Given the description of an element on the screen output the (x, y) to click on. 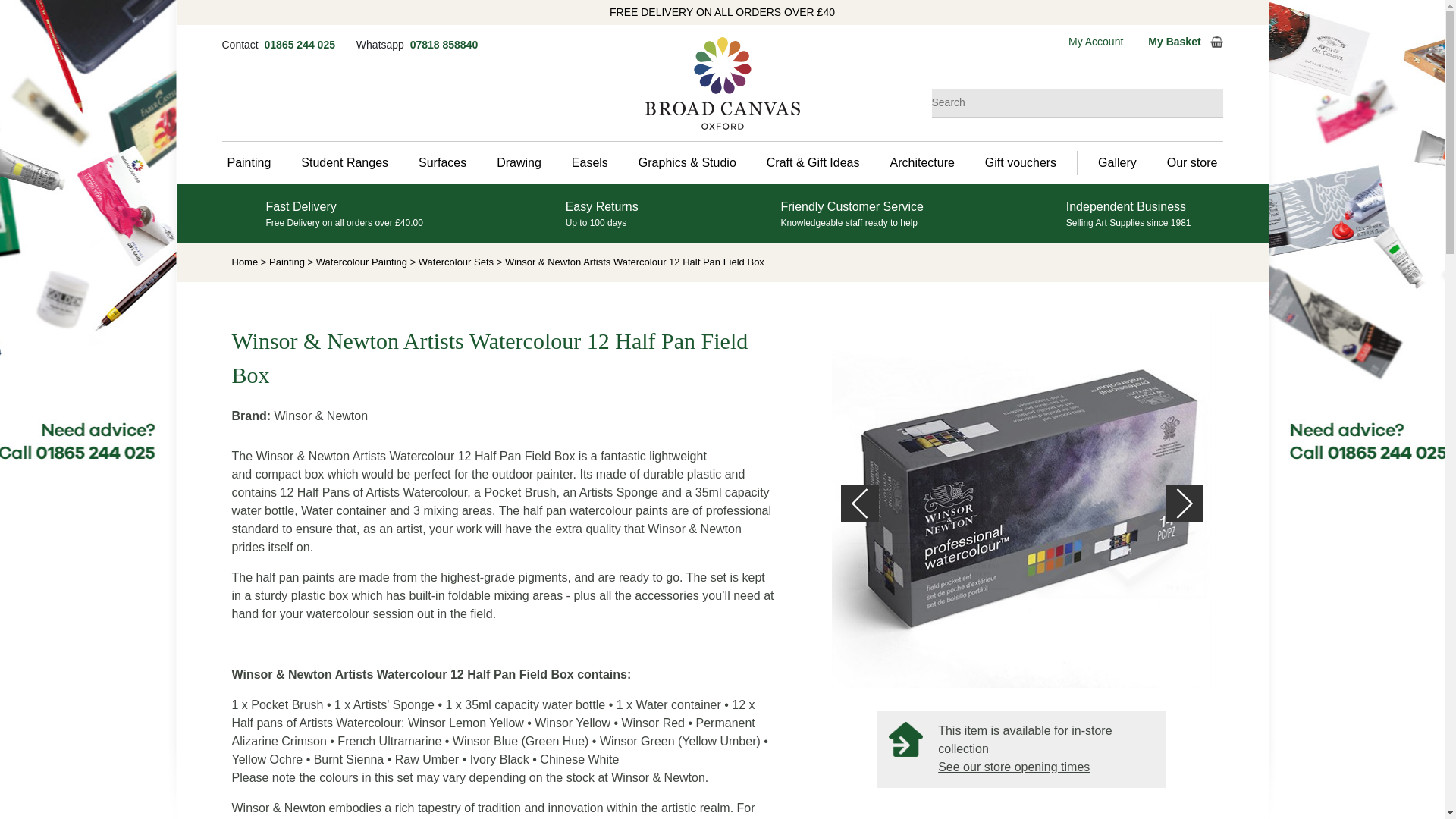
Broad Canvas (722, 82)
My Account (1099, 41)
01865 244 025 (300, 44)
07818 858840 (444, 44)
My Basket  (1185, 41)
Painting (254, 162)
